Given the description of an element on the screen output the (x, y) to click on. 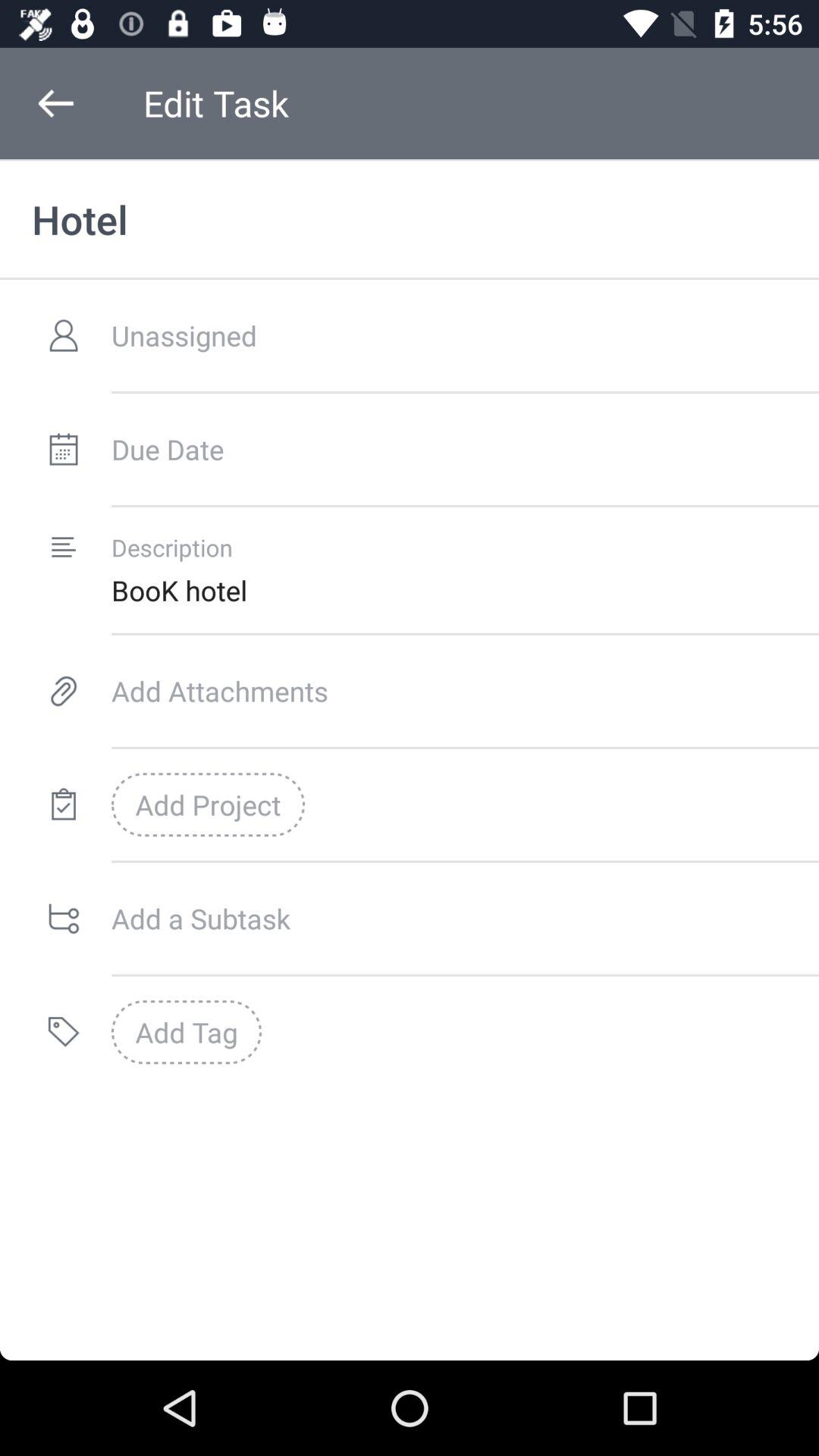
swipe to add project icon (207, 804)
